Given the description of an element on the screen output the (x, y) to click on. 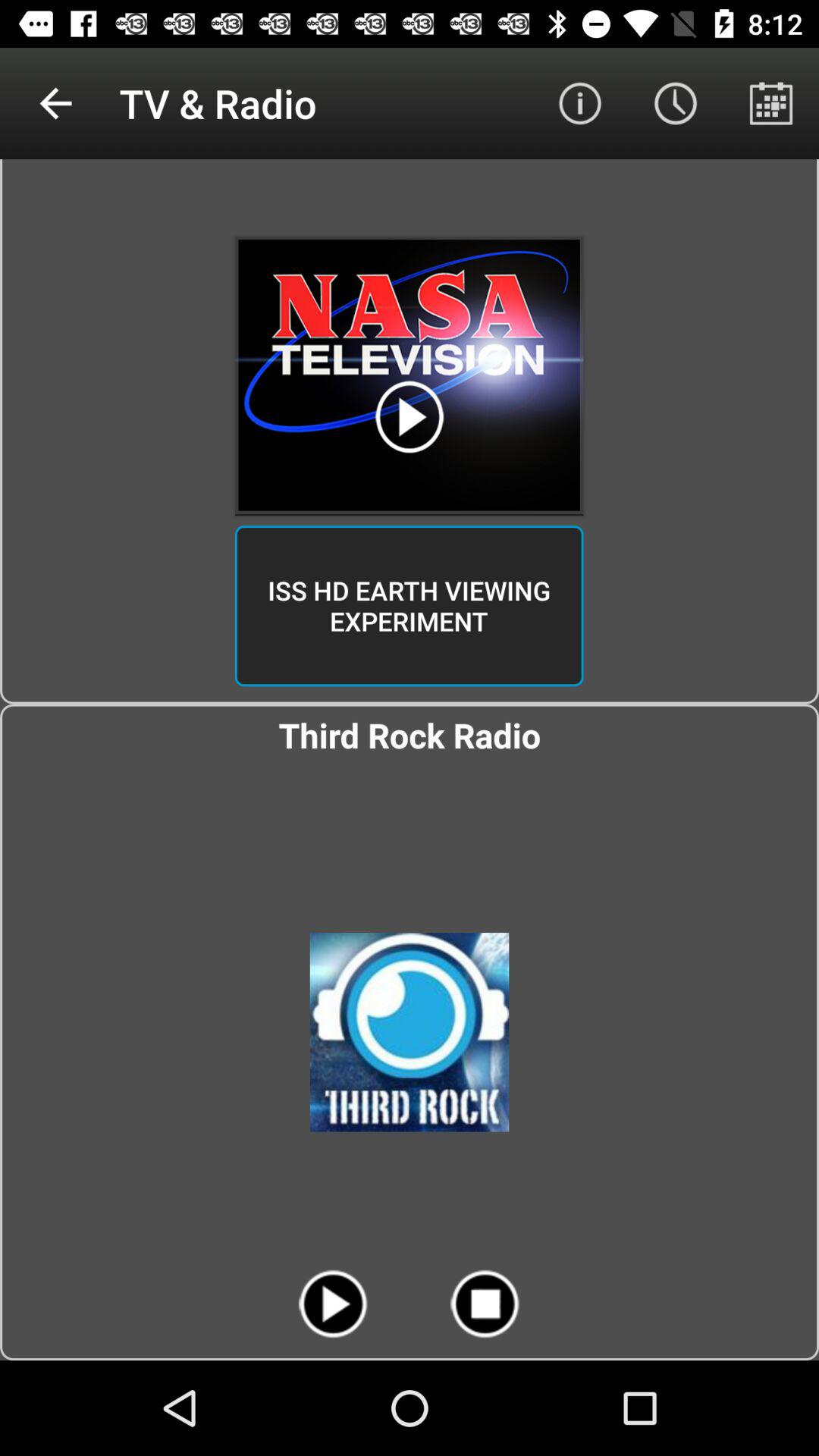
select the icon on the top right of the web page beside clock icon (771, 103)
click on the button which is next to the play (485, 1303)
click on the play button at the bottom of the page (333, 1303)
